Given the description of an element on the screen output the (x, y) to click on. 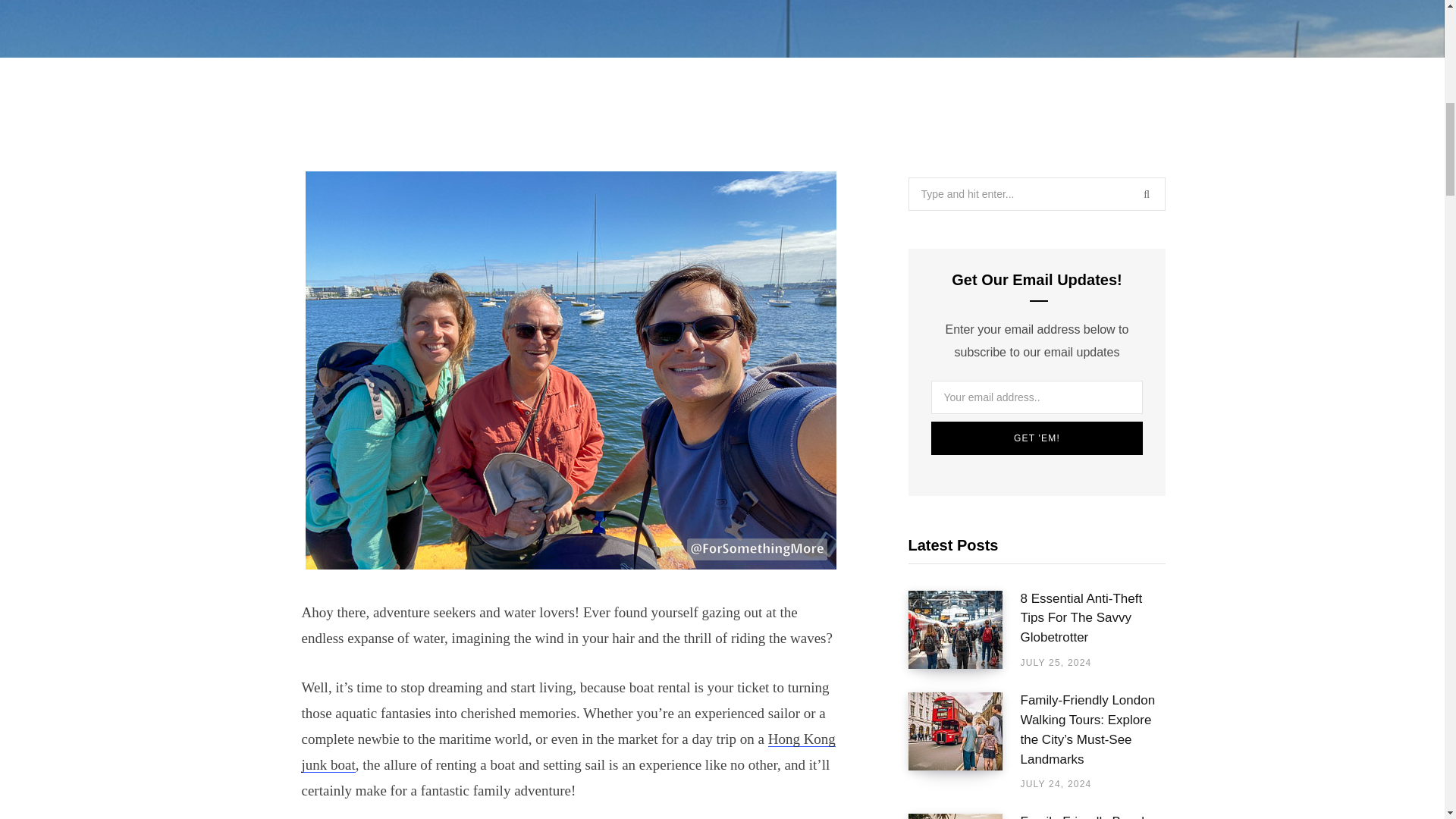
Get 'em! (1036, 438)
